Given the description of an element on the screen output the (x, y) to click on. 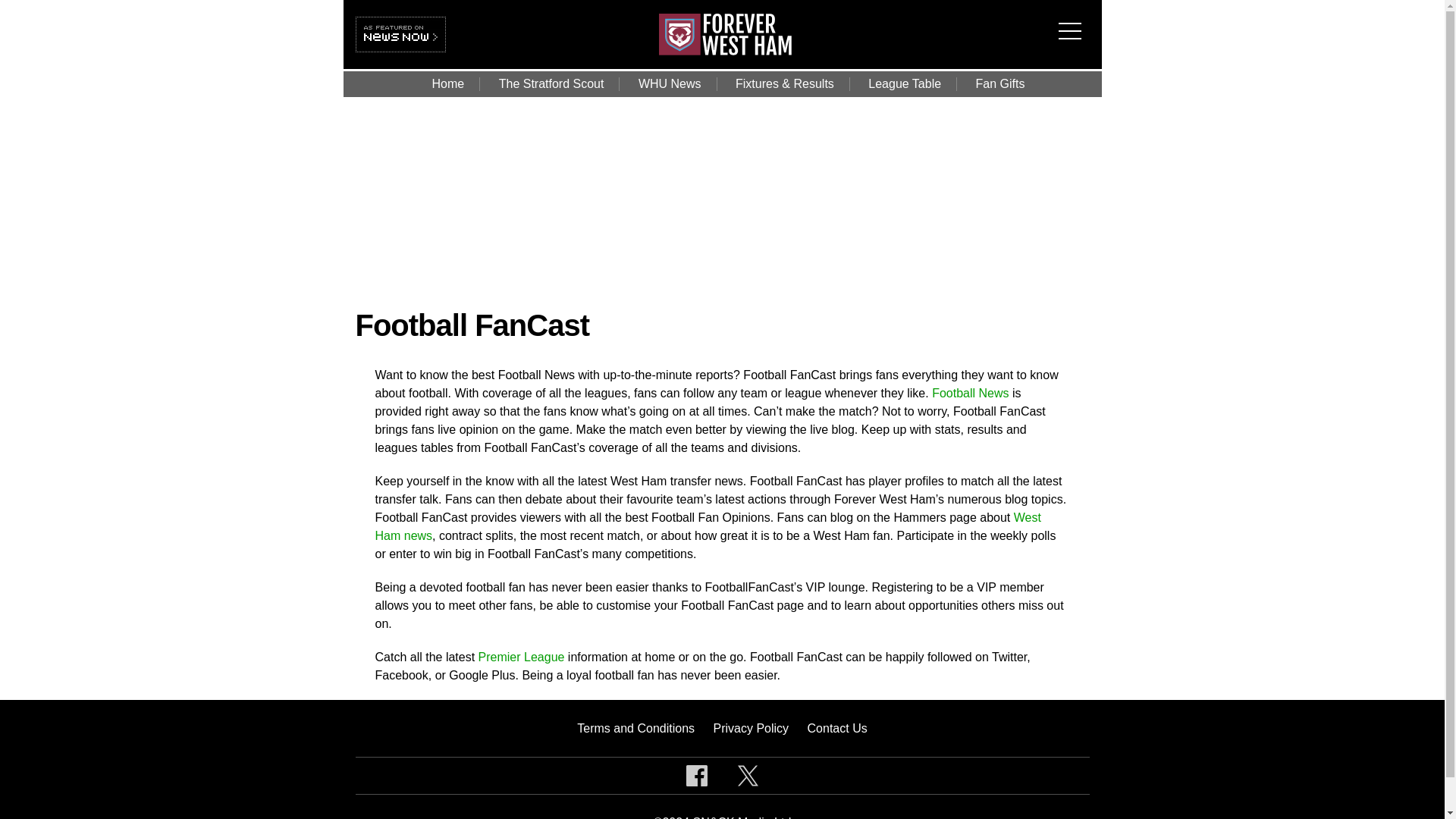
The Stratford Scout (551, 83)
Privacy Policy (751, 727)
League Table (904, 83)
Back to the homepage (725, 51)
West Ham news (707, 526)
Menu (1074, 21)
Fan Gifts (1000, 83)
Home (448, 83)
WHU News (669, 83)
Premier League (521, 656)
Football News (970, 392)
Contact Us (837, 727)
Terms and Conditions (635, 727)
